Given the description of an element on the screen output the (x, y) to click on. 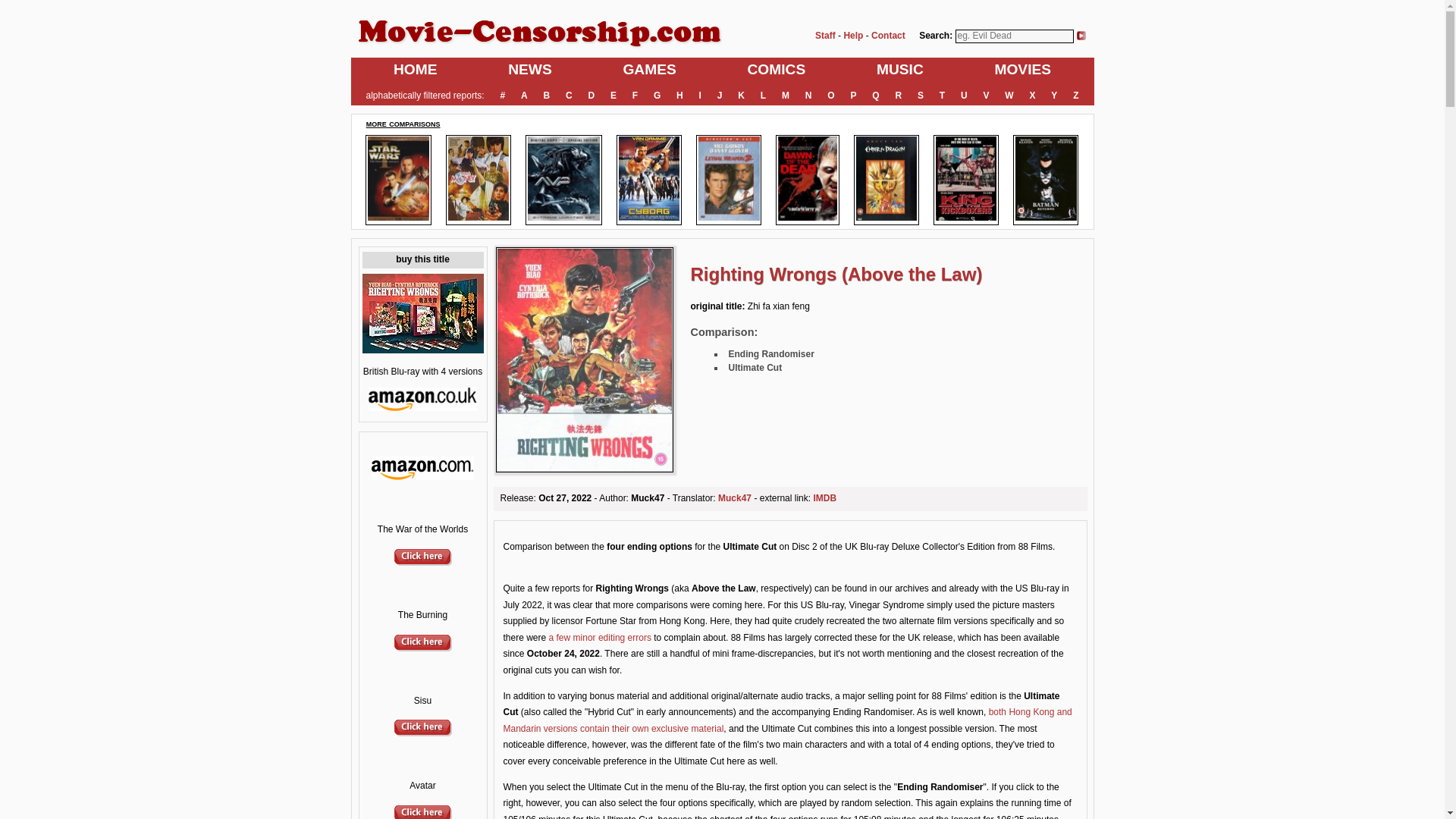
COMICS (776, 69)
I (699, 95)
M (785, 95)
V (986, 95)
R (898, 95)
P (853, 95)
Avatar  from Amazon.com (422, 816)
MUSIC (900, 69)
C (568, 95)
Help (853, 35)
H (679, 95)
Contact (887, 35)
GAMES (649, 69)
The Burning from Amazon.com (422, 647)
J (719, 95)
